Given the description of an element on the screen output the (x, y) to click on. 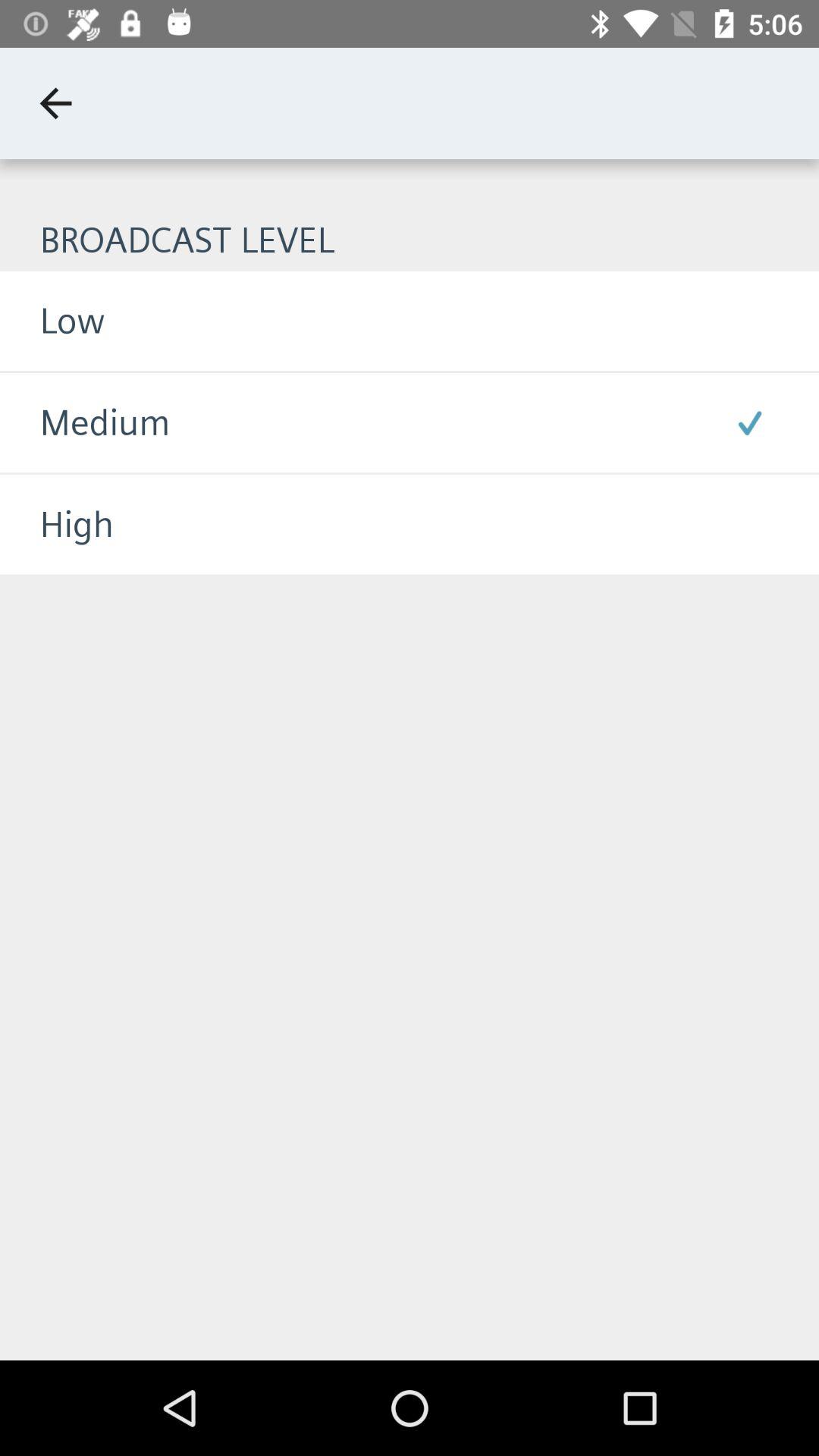
tap icon below the broadcast level item (52, 320)
